Given the description of an element on the screen output the (x, y) to click on. 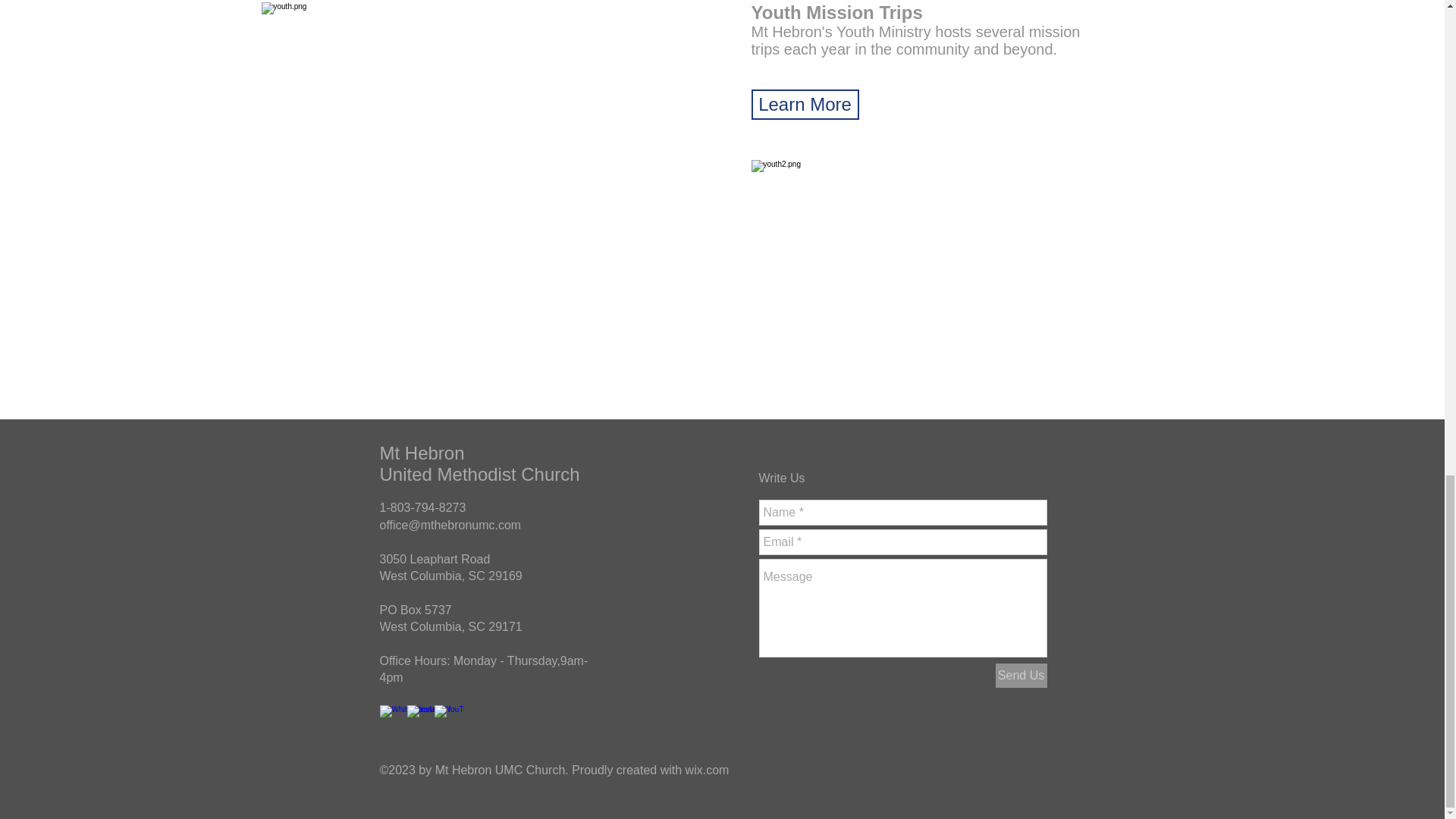
Send Us (1020, 675)
wix.com (707, 769)
Learn More (805, 104)
